Given the description of an element on the screen output the (x, y) to click on. 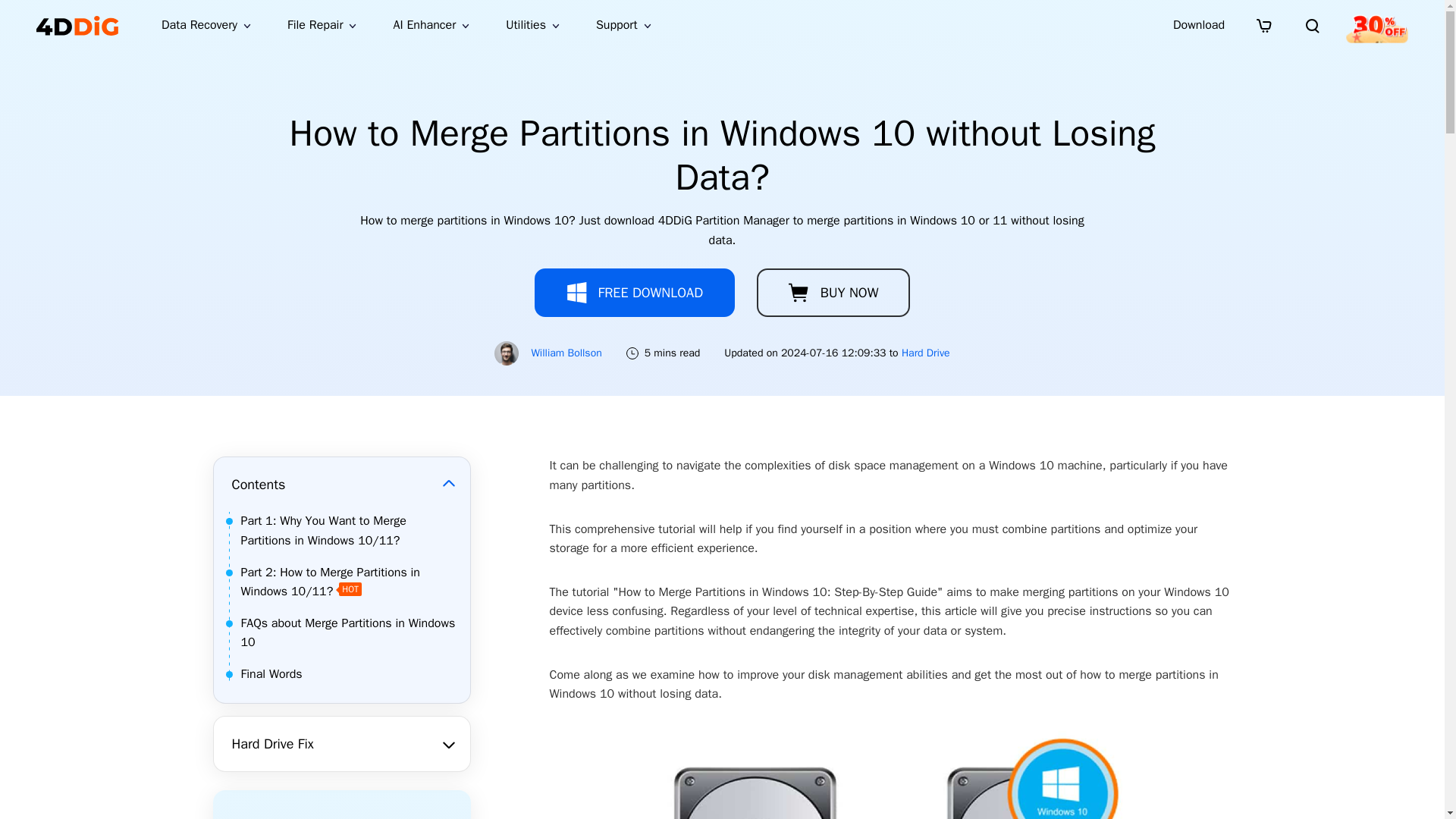
Data Recovery (205, 25)
File Repair (321, 25)
AI Enhancer (430, 25)
